Given the description of an element on the screen output the (x, y) to click on. 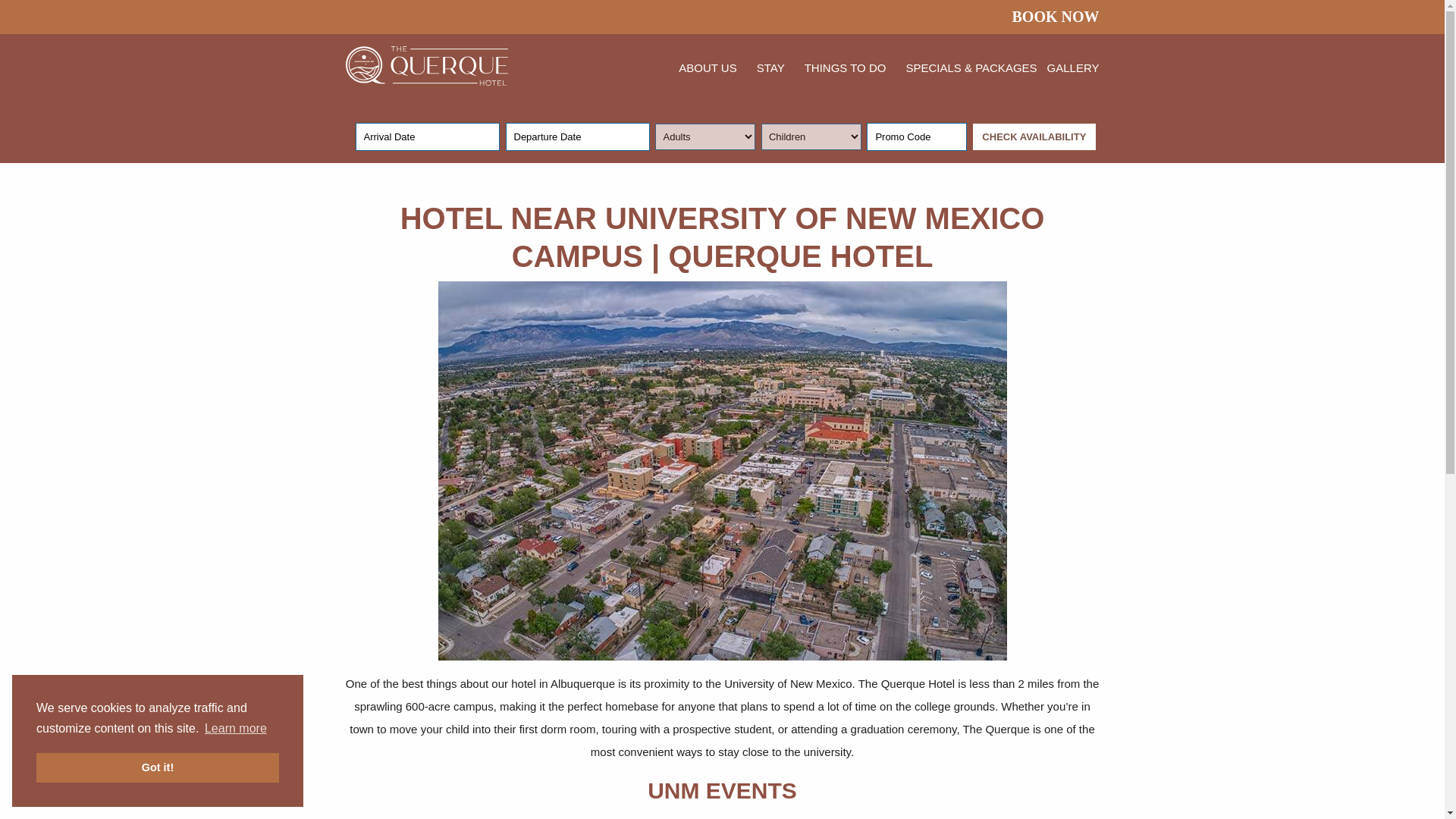
ABOUT US (707, 67)
STAY (770, 67)
GALLERY (1072, 67)
Got it! (157, 767)
Check Availability (1034, 136)
THINGS TO DO (845, 67)
Learn more (235, 728)
BOOK NOW (1049, 16)
Check Availability (1034, 136)
